Given the description of an element on the screen output the (x, y) to click on. 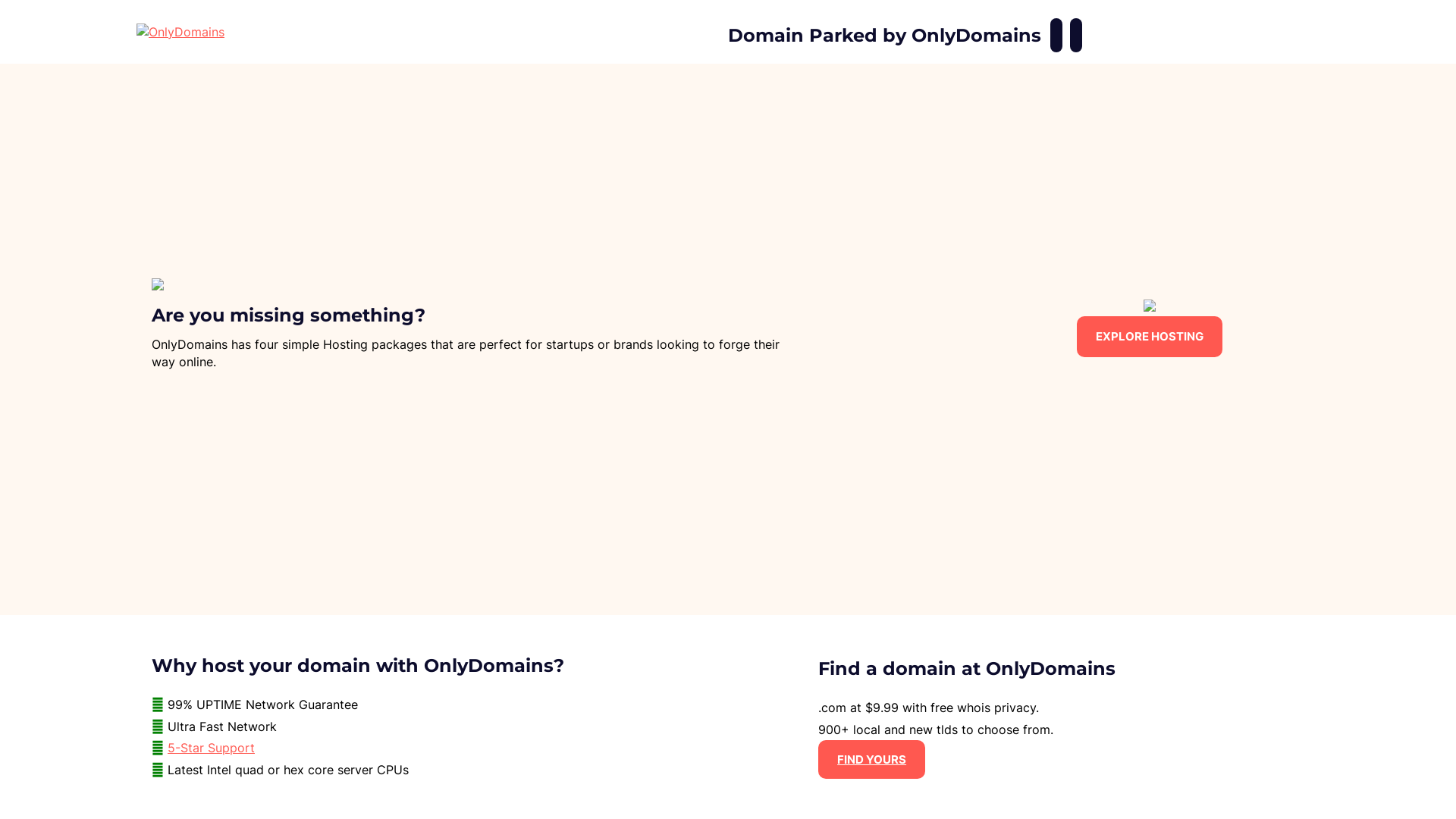
OnlyDomains Facebook Element type: hover (1056, 35)
5-Star Support Element type: text (210, 747)
OnlyDomains Twitter Element type: hover (1075, 35)
FIND YOURS Element type: text (871, 759)
EXPLORE HOSTING Element type: text (1149, 336)
